Given the description of an element on the screen output the (x, y) to click on. 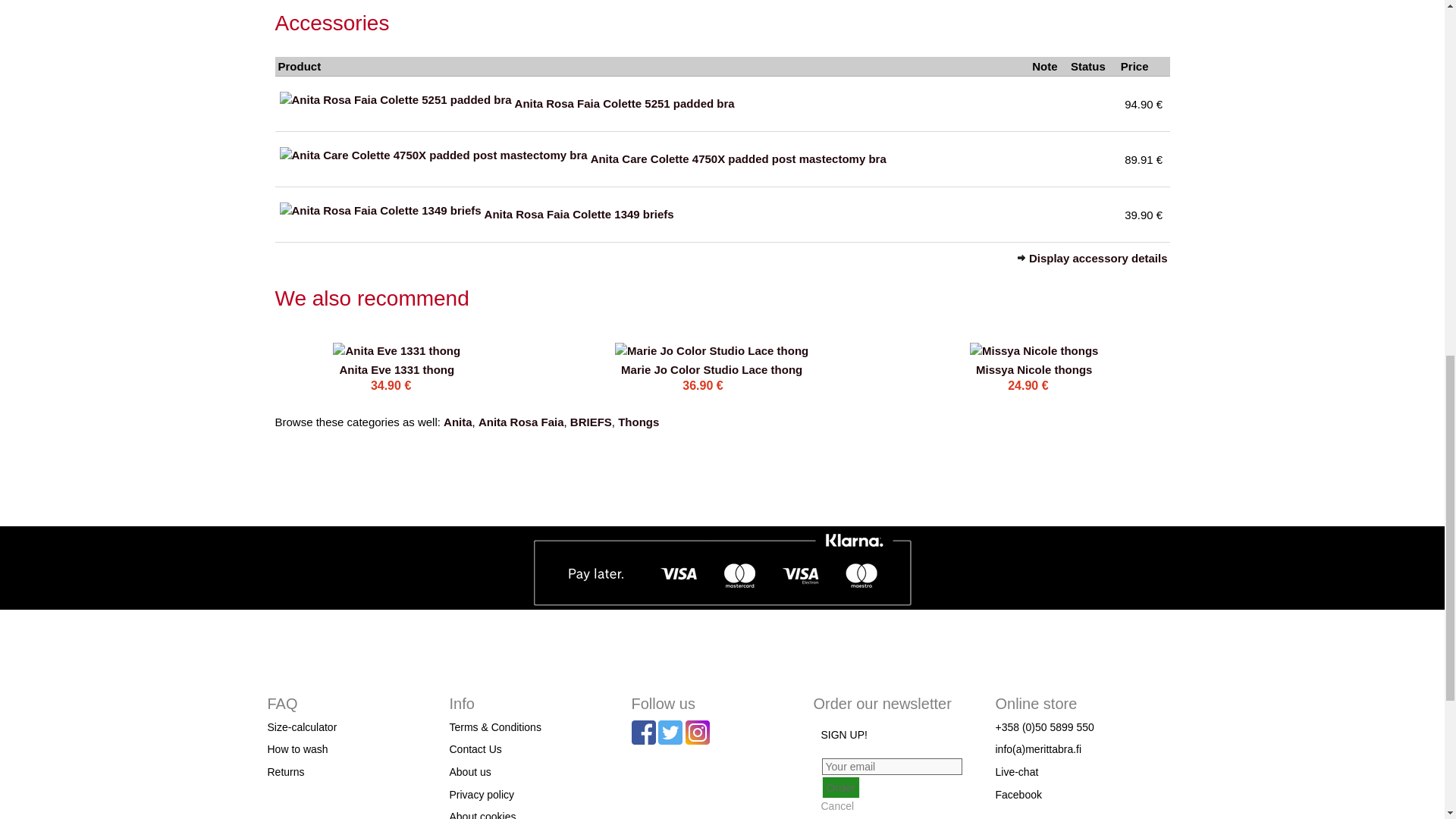
Go to product (396, 368)
This shop supports payment via Klarna Checkout. (721, 569)
ig2 (697, 732)
Go to product (711, 349)
Go to product (711, 368)
Go to product (1033, 368)
Go to product (396, 349)
Go to product (1033, 349)
